Given the description of an element on the screen output the (x, y) to click on. 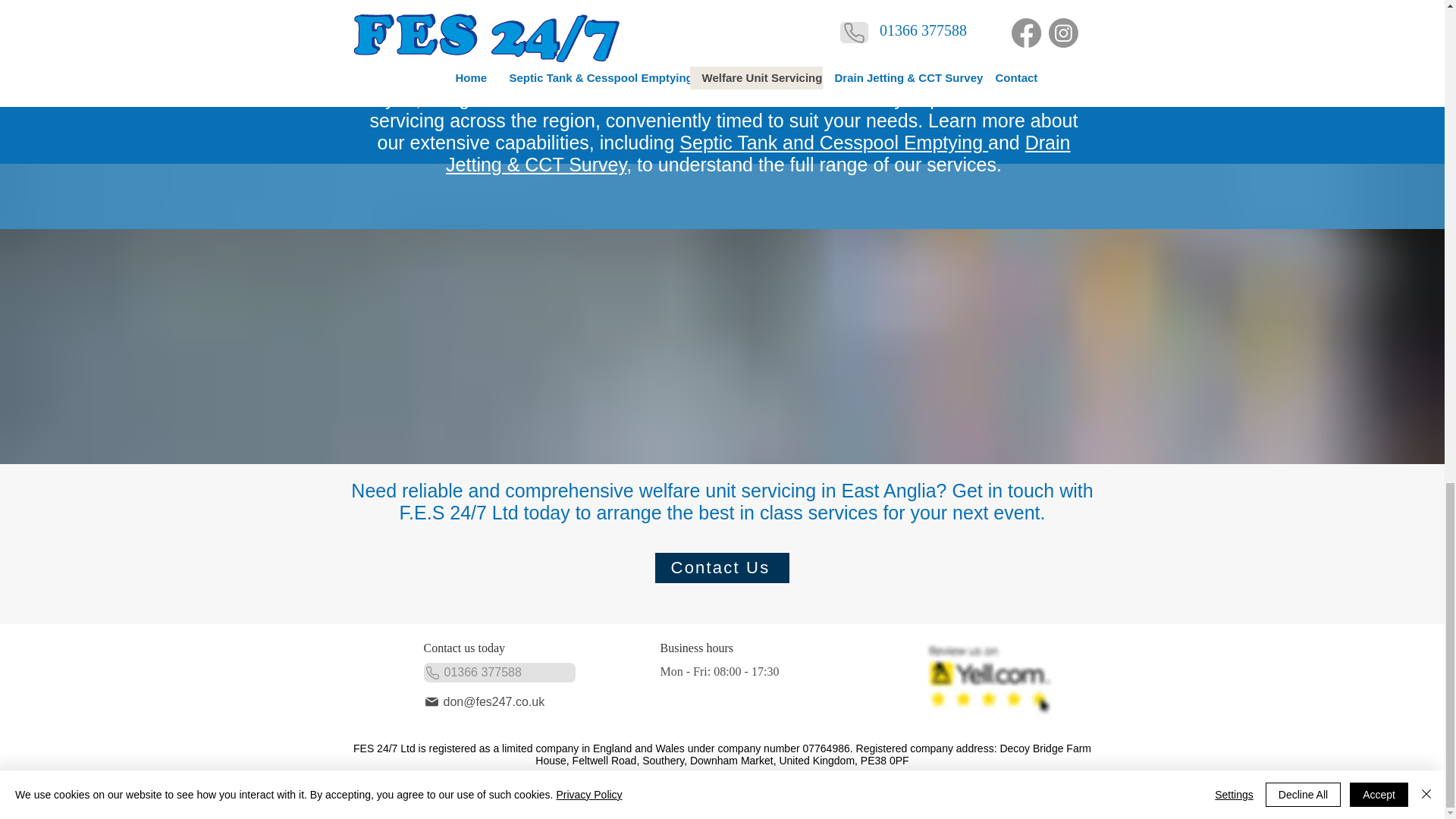
01366 377588 (499, 672)
Contact Us (722, 567)
Trading Terms (814, 790)
Septic Tank and Cesspool Emptying (833, 142)
Terms of Use (622, 790)
